Given the description of an element on the screen output the (x, y) to click on. 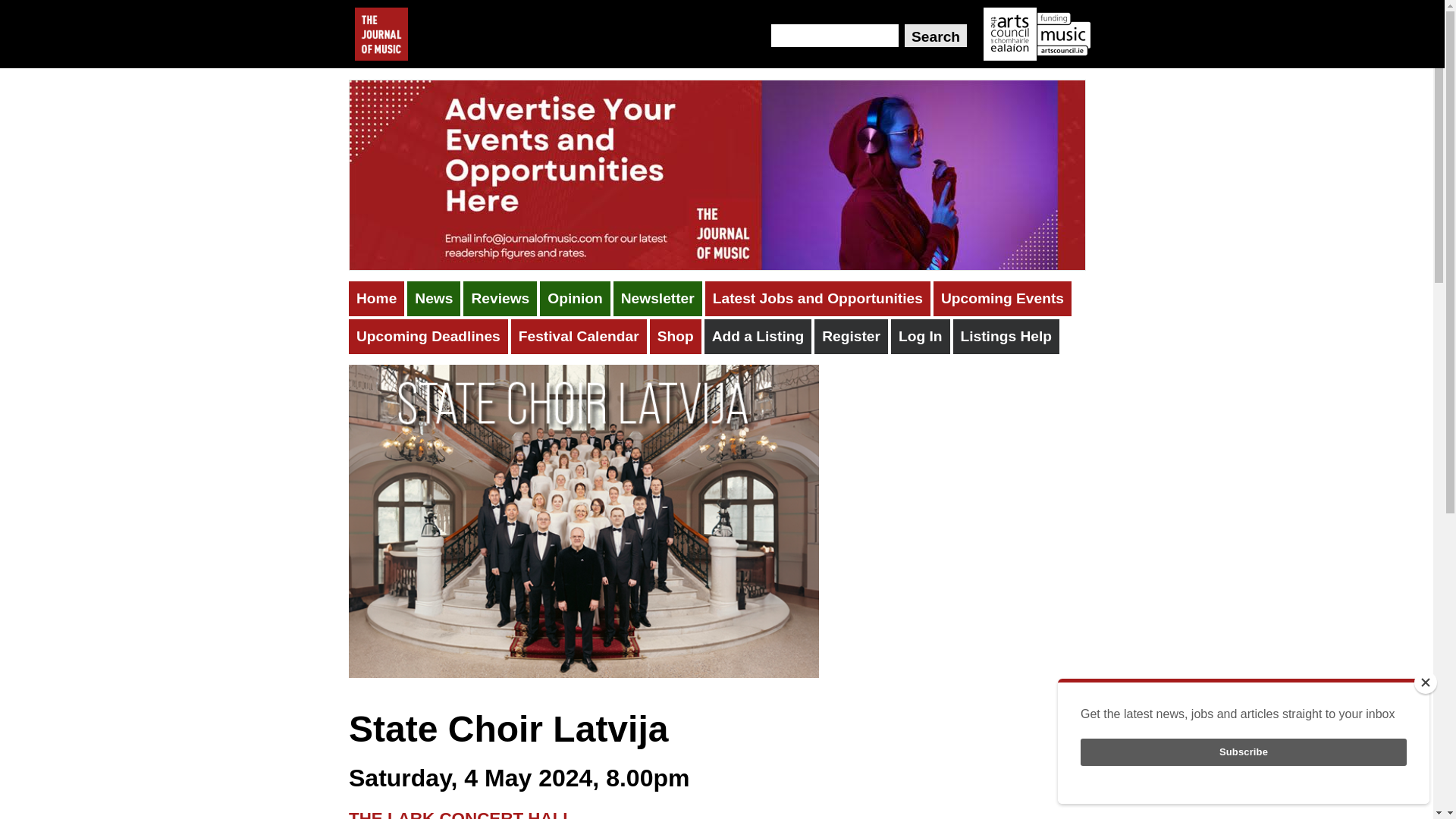
Latest Jobs and Opportunities (817, 298)
Festival Calendar (578, 336)
Search (935, 35)
Search (935, 35)
News (433, 298)
Upcoming Deadlines (428, 336)
Enter the terms you wish to search for. (834, 35)
Upcoming Events (1002, 298)
Home (376, 298)
Opinion (575, 298)
Newsletter (656, 298)
Shop (675, 336)
Reviews (500, 298)
